Given the description of an element on the screen output the (x, y) to click on. 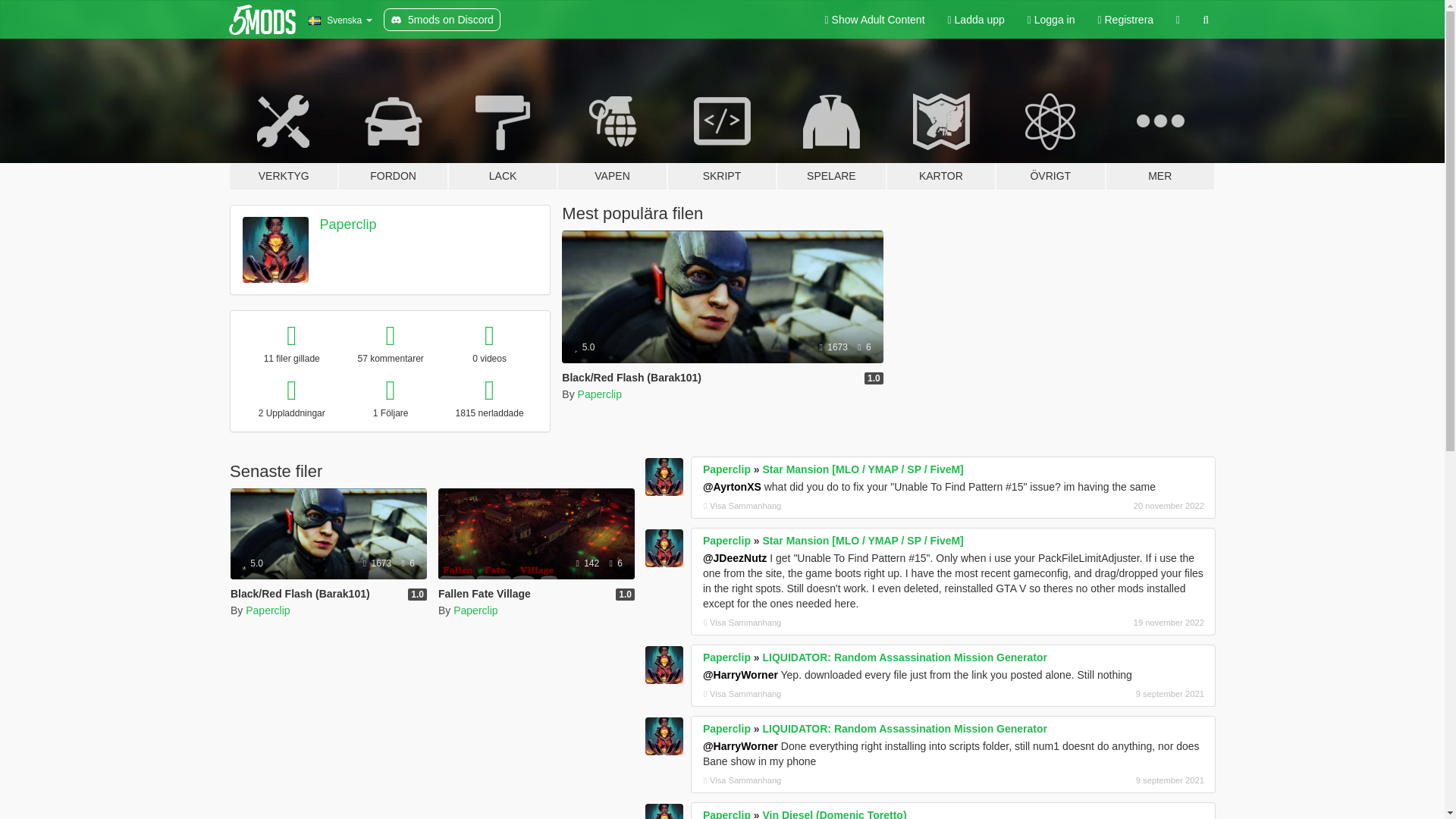
Light mode (874, 19)
  Svenska (339, 19)
1.0 (873, 378)
Registrera (1125, 19)
Paperclip (599, 394)
5.0 star rating (253, 562)
5mods on Discord (442, 19)
Fallen Fate Village (536, 553)
Fallen Fate Village (536, 533)
Logga in (1051, 19)
